Given the description of an element on the screen output the (x, y) to click on. 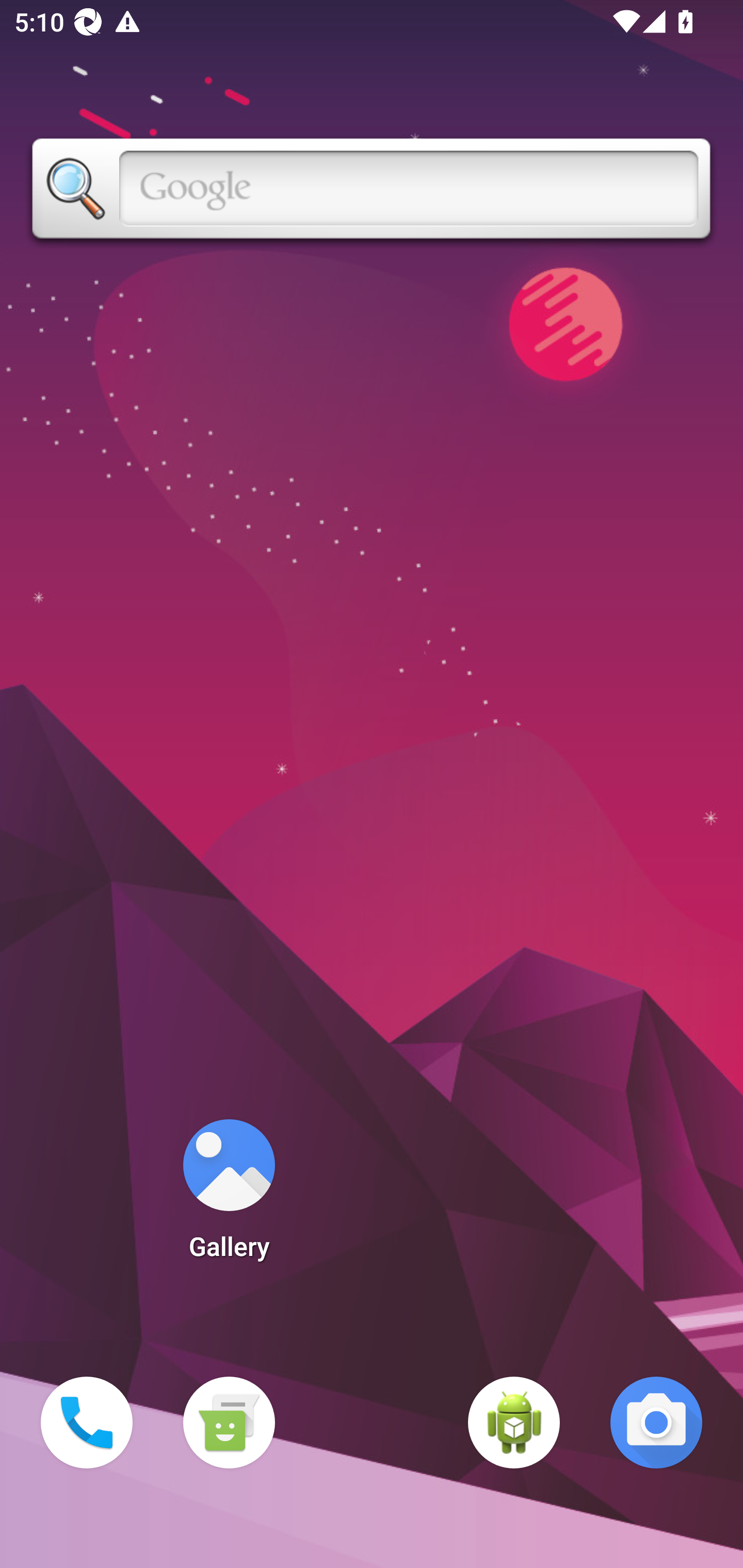
Gallery (228, 1195)
Phone (86, 1422)
Messaging (228, 1422)
WebView Browser Tester (513, 1422)
Camera (656, 1422)
